Given the description of an element on the screen output the (x, y) to click on. 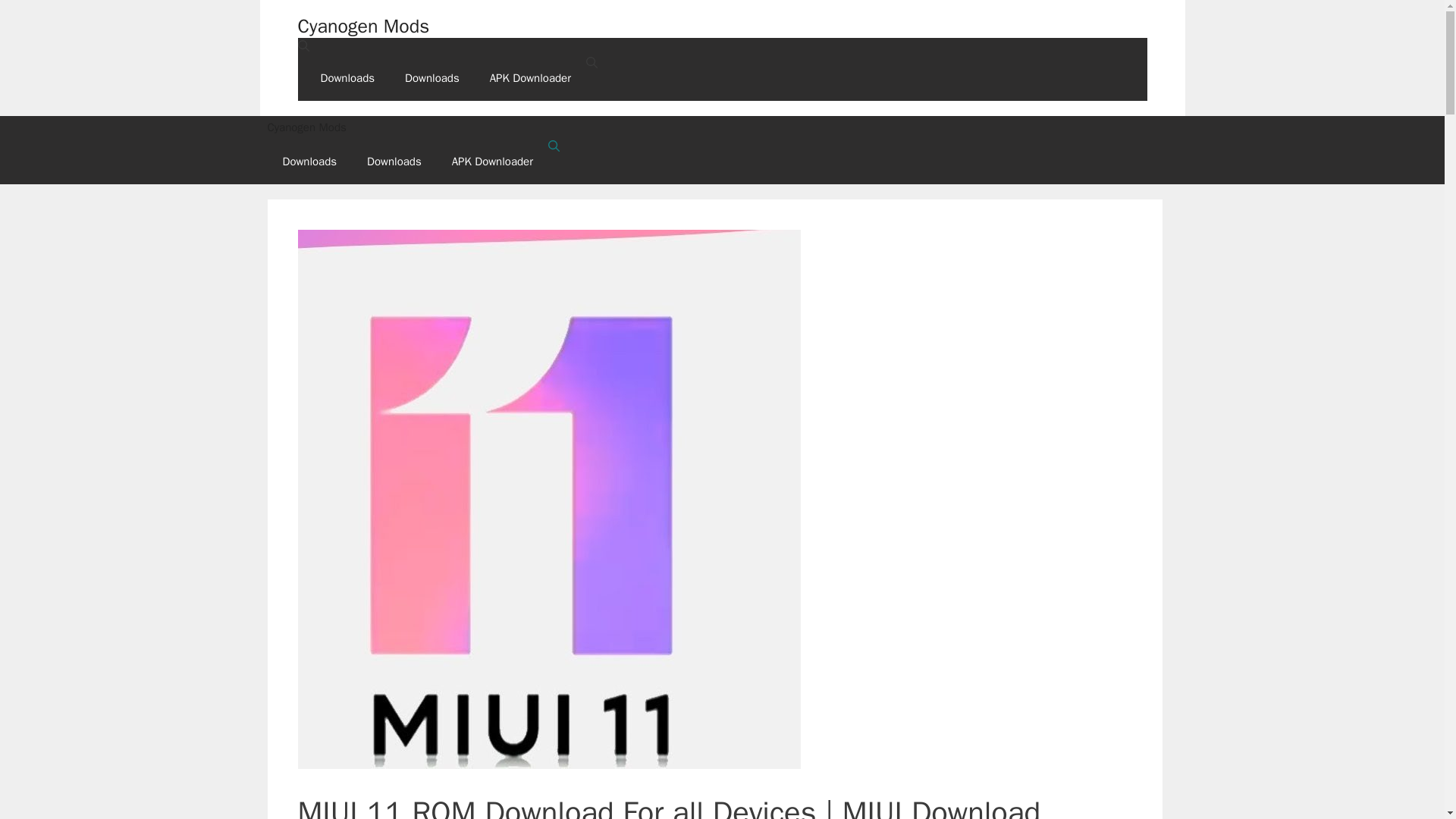
Downloads (347, 76)
Downloads (432, 76)
APK Downloader (492, 160)
Cyanogen Mods (721, 126)
Downloads (309, 160)
Downloads (394, 160)
APK Downloader (530, 76)
Cyanogen Mods (363, 25)
